Given the description of an element on the screen output the (x, y) to click on. 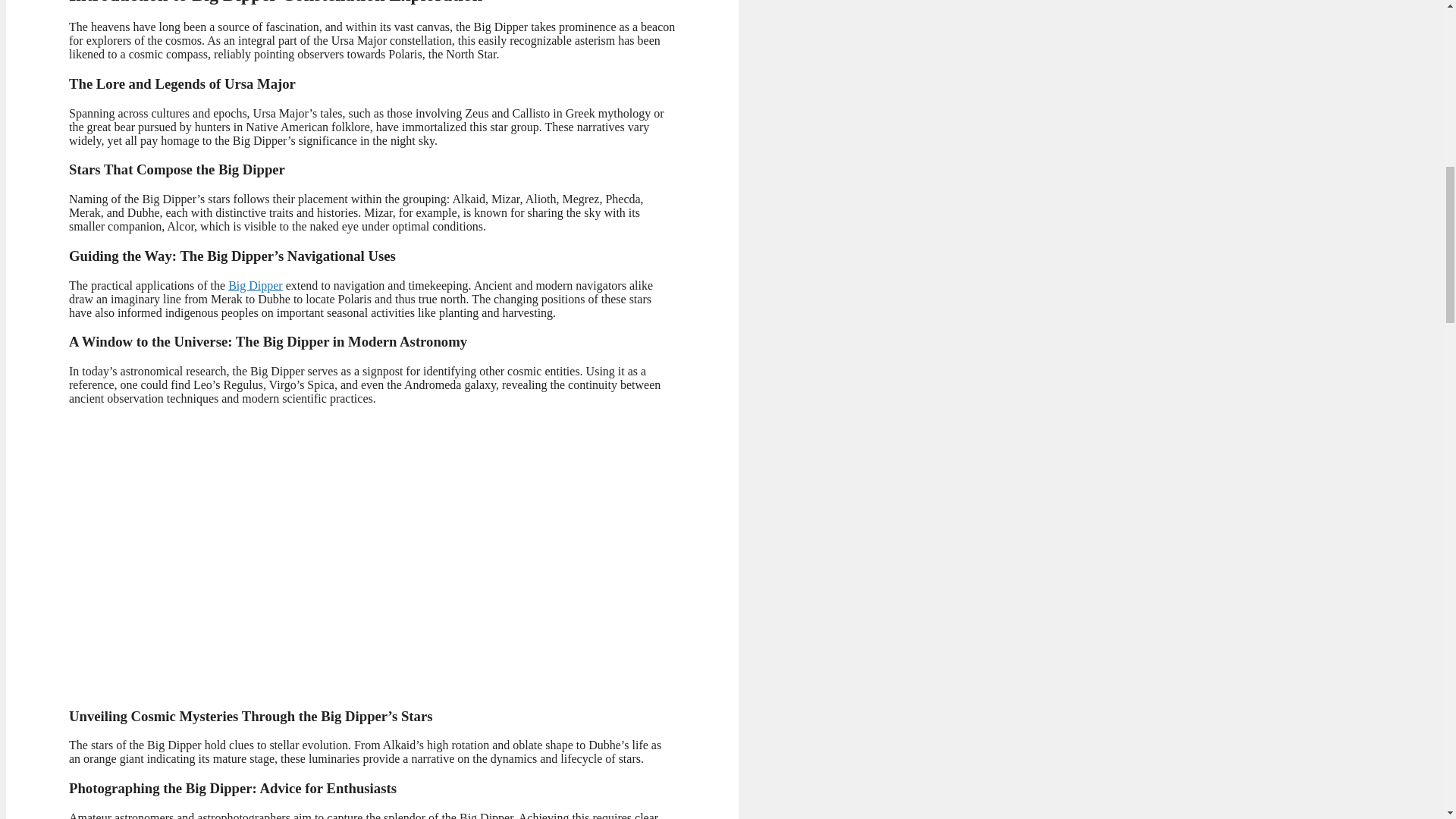
Big Dipper (255, 285)
